Given the description of an element on the screen output the (x, y) to click on. 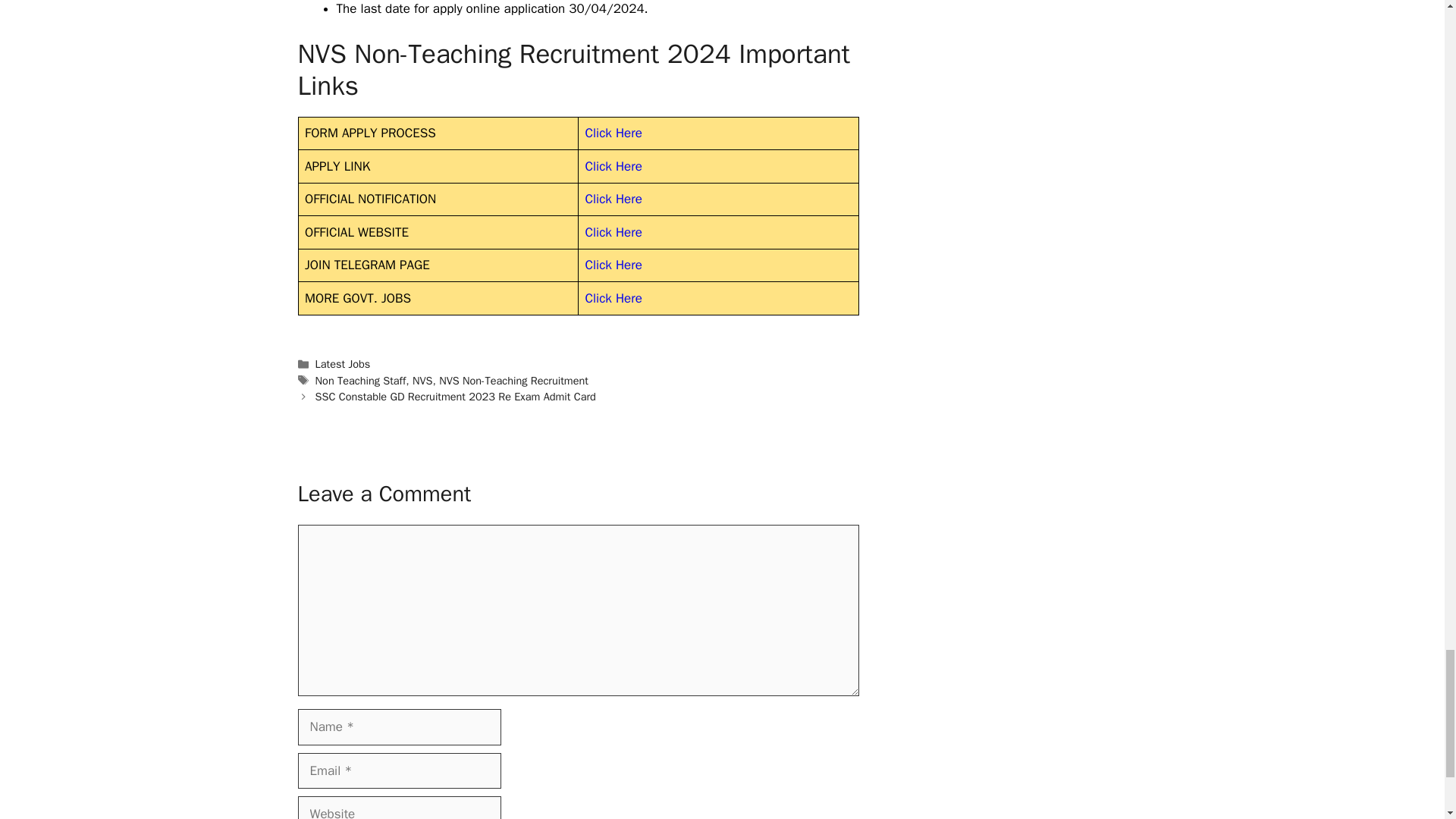
NVS Non-Teaching Recruitment (513, 380)
Click Here (613, 166)
SSC Constable GD Recruitment 2023 Re Exam Admit Card (455, 396)
Non Teaching Staff (360, 380)
NVS (422, 380)
Latest Jobs (343, 364)
